Given the description of an element on the screen output the (x, y) to click on. 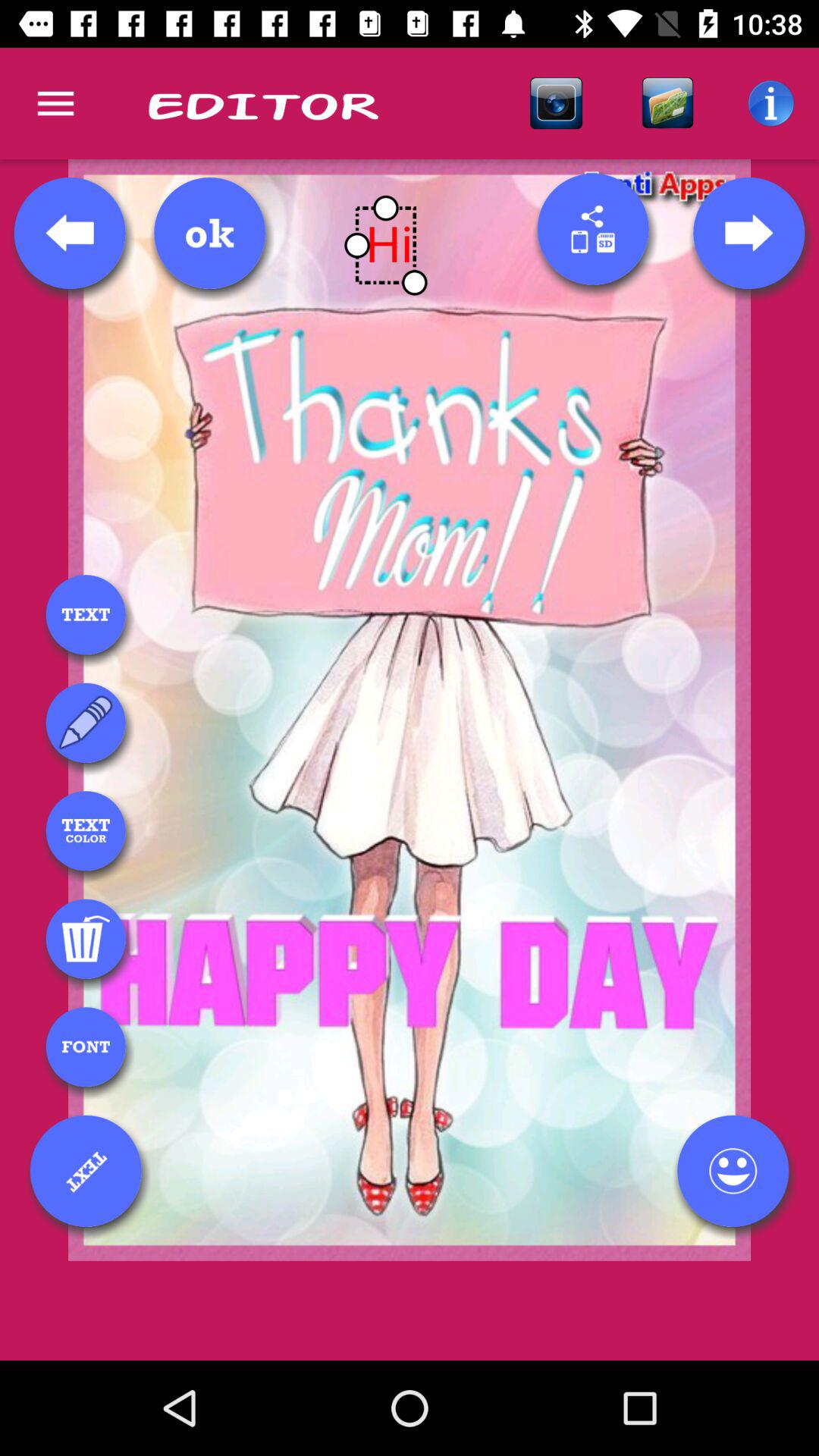
hit to save (209, 233)
